Given the description of an element on the screen output the (x, y) to click on. 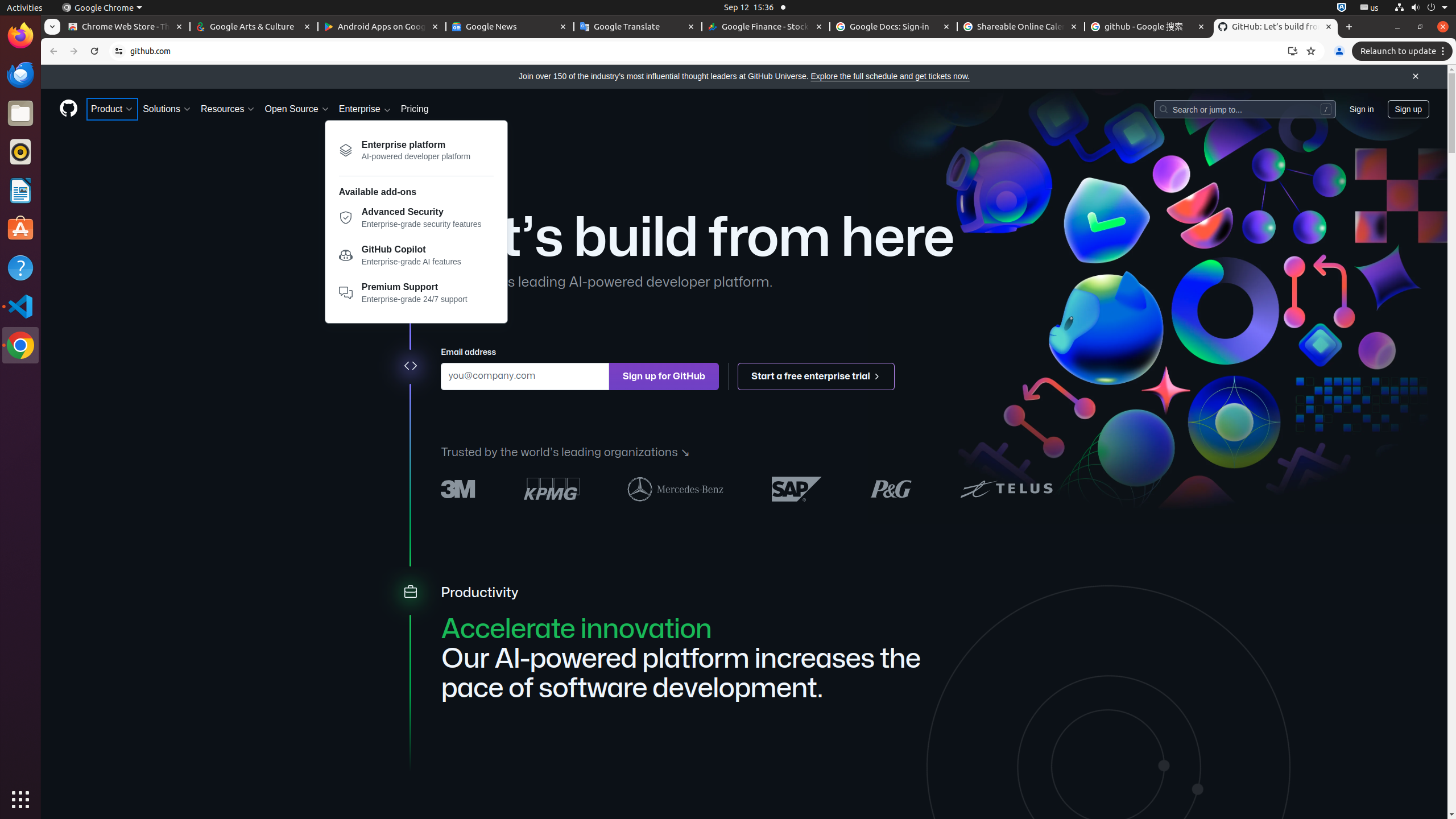
Android Apps on Google Play - Memory usage - 52.4 MB Element type: page-tab (381, 26)
Help Element type: push-button (20, 267)
Files Element type: push-button (20, 113)
Close Element type: push-button (1415, 76)
Relaunch to update Element type: push-button (1403, 50)
